Given the description of an element on the screen output the (x, y) to click on. 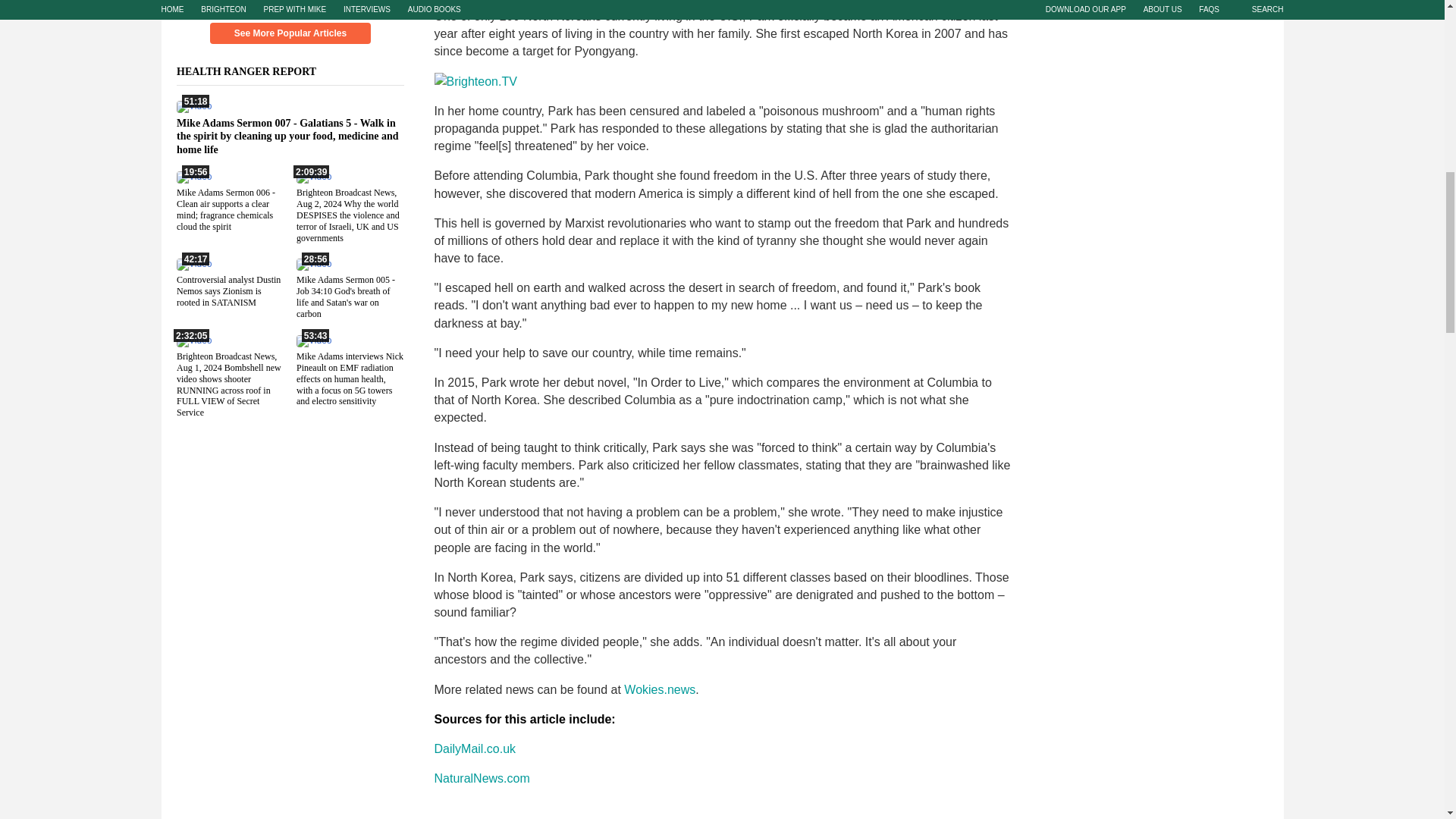
Scroll Down (290, 6)
2:09:39 (312, 176)
42:17 (193, 263)
HEALTH RANGER REPORT (254, 71)
See More Popular Articles (289, 33)
19:56 (193, 176)
28:56 (312, 263)
53:43 (312, 339)
